Given the description of an element on the screen output the (x, y) to click on. 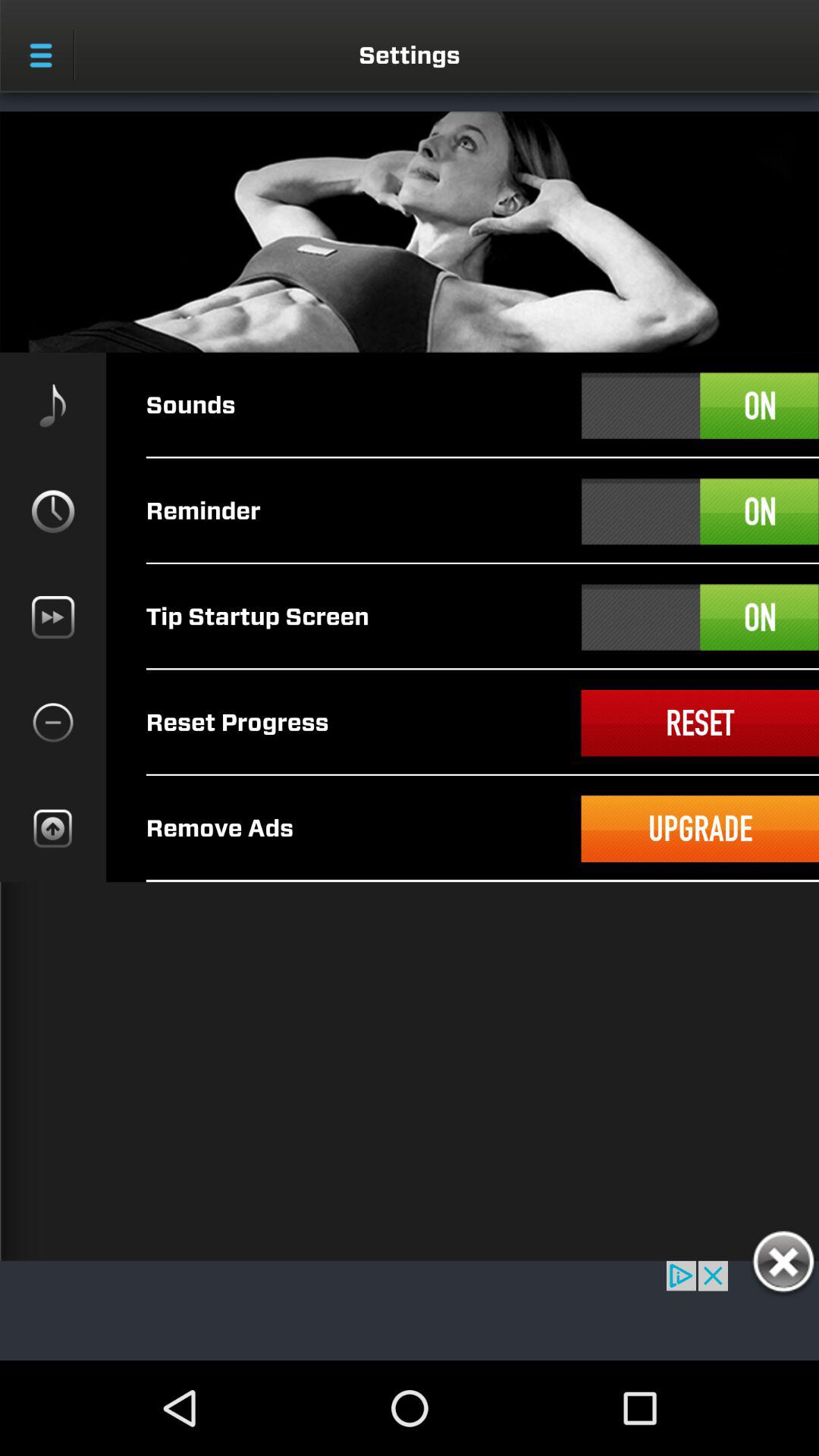
sound on (700, 405)
